Given the description of an element on the screen output the (x, y) to click on. 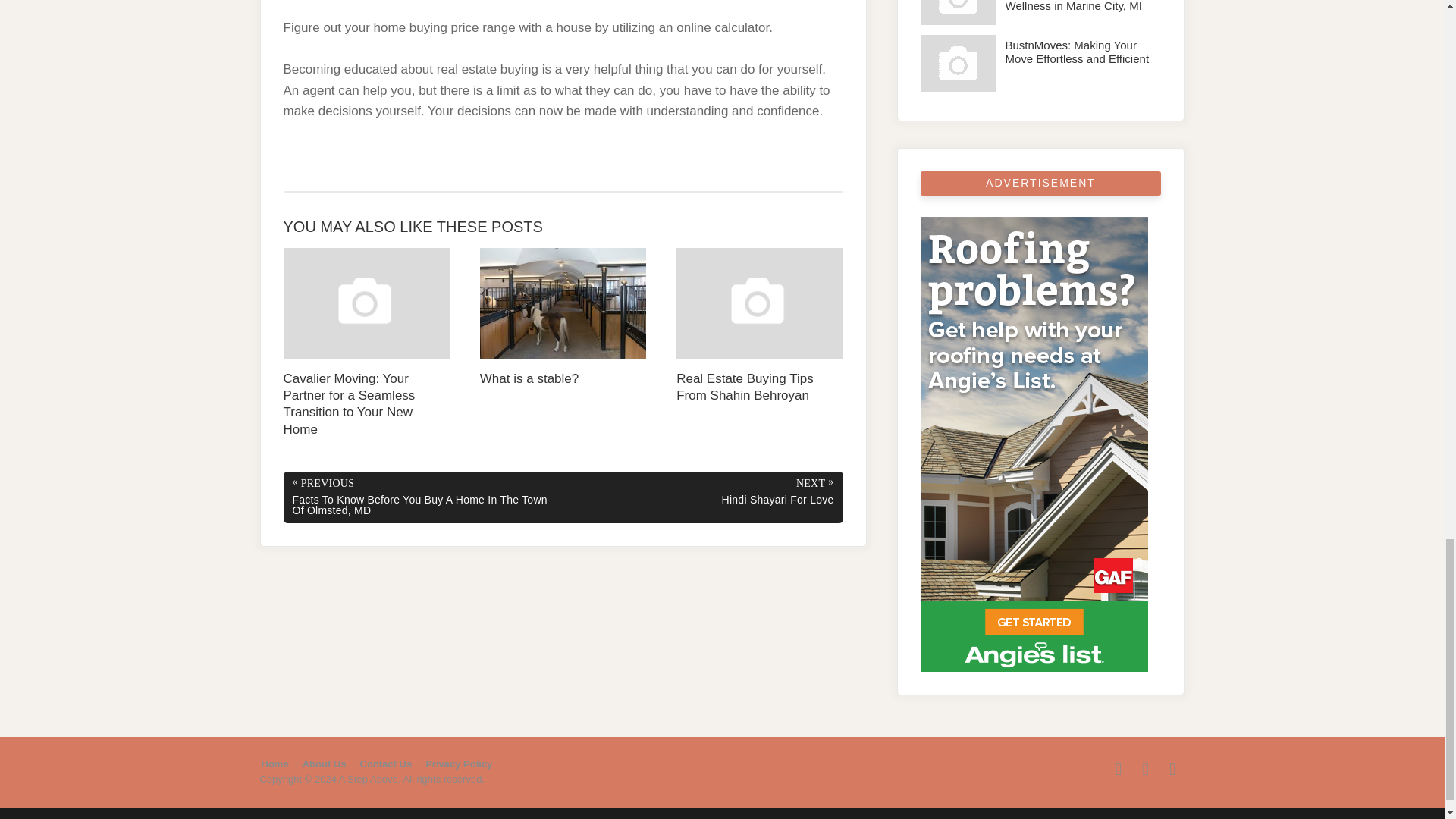
What is a stable? (563, 317)
Real Estate Buying Tips From Shahin Behroyan (760, 326)
What is a stable? (563, 317)
Real Estate Buying Tips From Shahin Behroyan (760, 326)
